Given the description of an element on the screen output the (x, y) to click on. 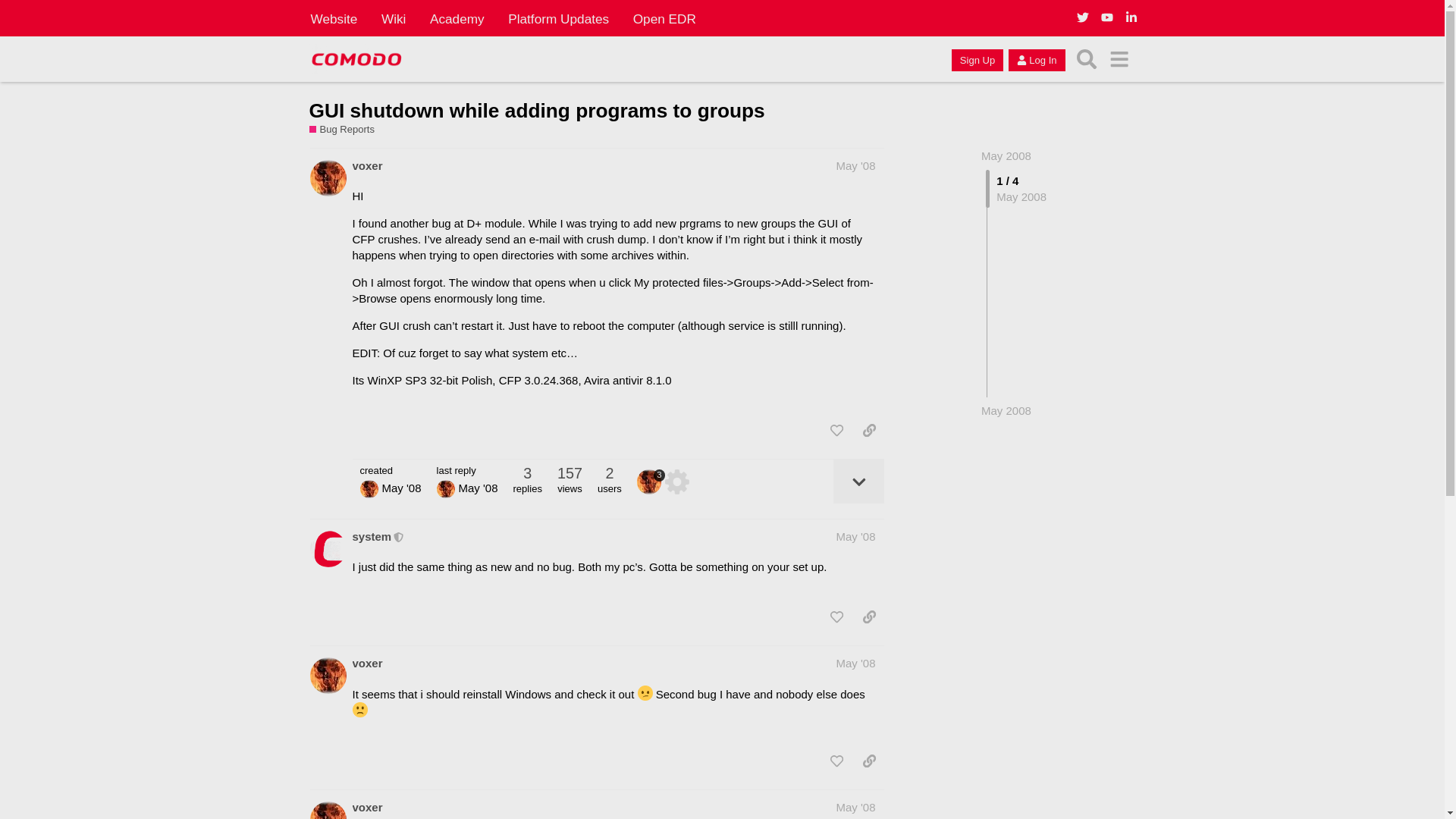
Wiki (393, 18)
Platform Updates (558, 18)
last reply (466, 470)
Discovered a bug? Please let us know. (347, 129)
Bug Reports (341, 129)
Website (333, 18)
voxer (366, 165)
May 27, 2008 4:54 pm (1005, 410)
3 (651, 481)
Sign Up (977, 60)
